Given the description of an element on the screen output the (x, y) to click on. 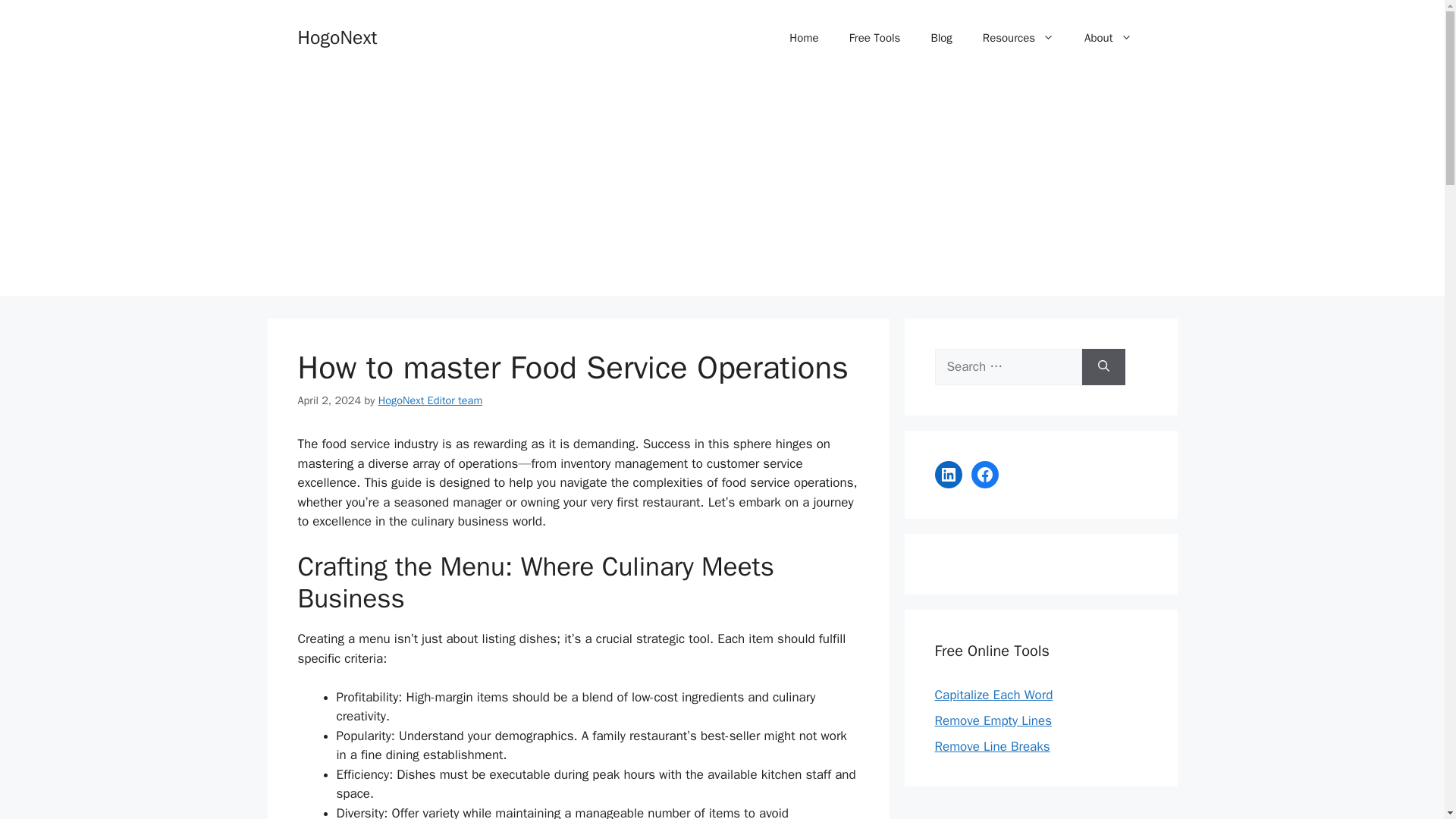
About (1107, 37)
Remove Line Breaks (991, 746)
Blog (940, 37)
HogoNext (337, 37)
HogoNext Editor team (430, 400)
LinkedIn (947, 474)
Capitalize Each Word (993, 694)
Facebook (984, 474)
Advertisement (1040, 810)
